Given the description of an element on the screen output the (x, y) to click on. 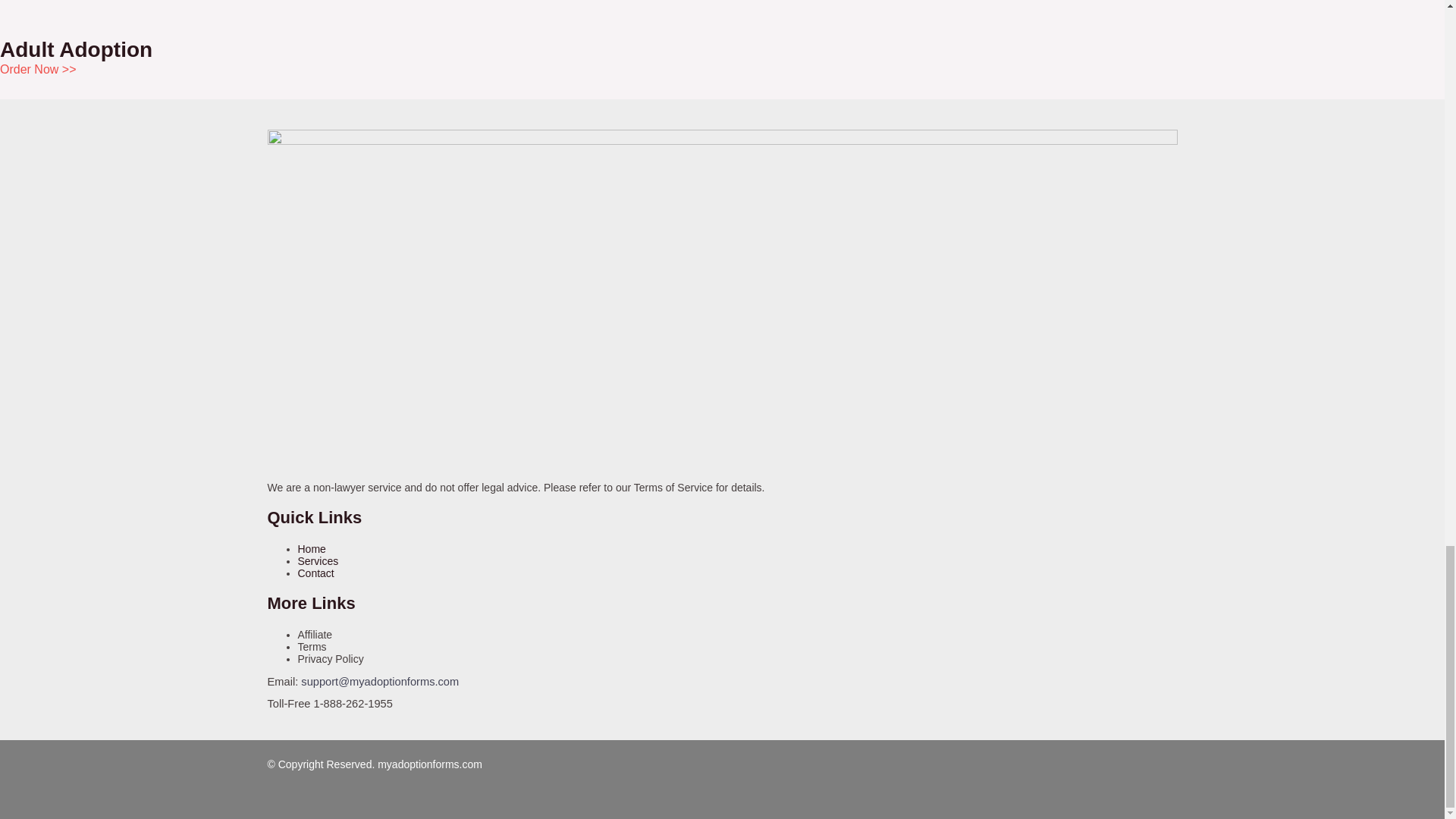
Home (310, 548)
Services (317, 561)
Contact (315, 573)
Privacy Policy (329, 658)
Terms (311, 646)
Affiliate (314, 634)
